Given the description of an element on the screen output the (x, y) to click on. 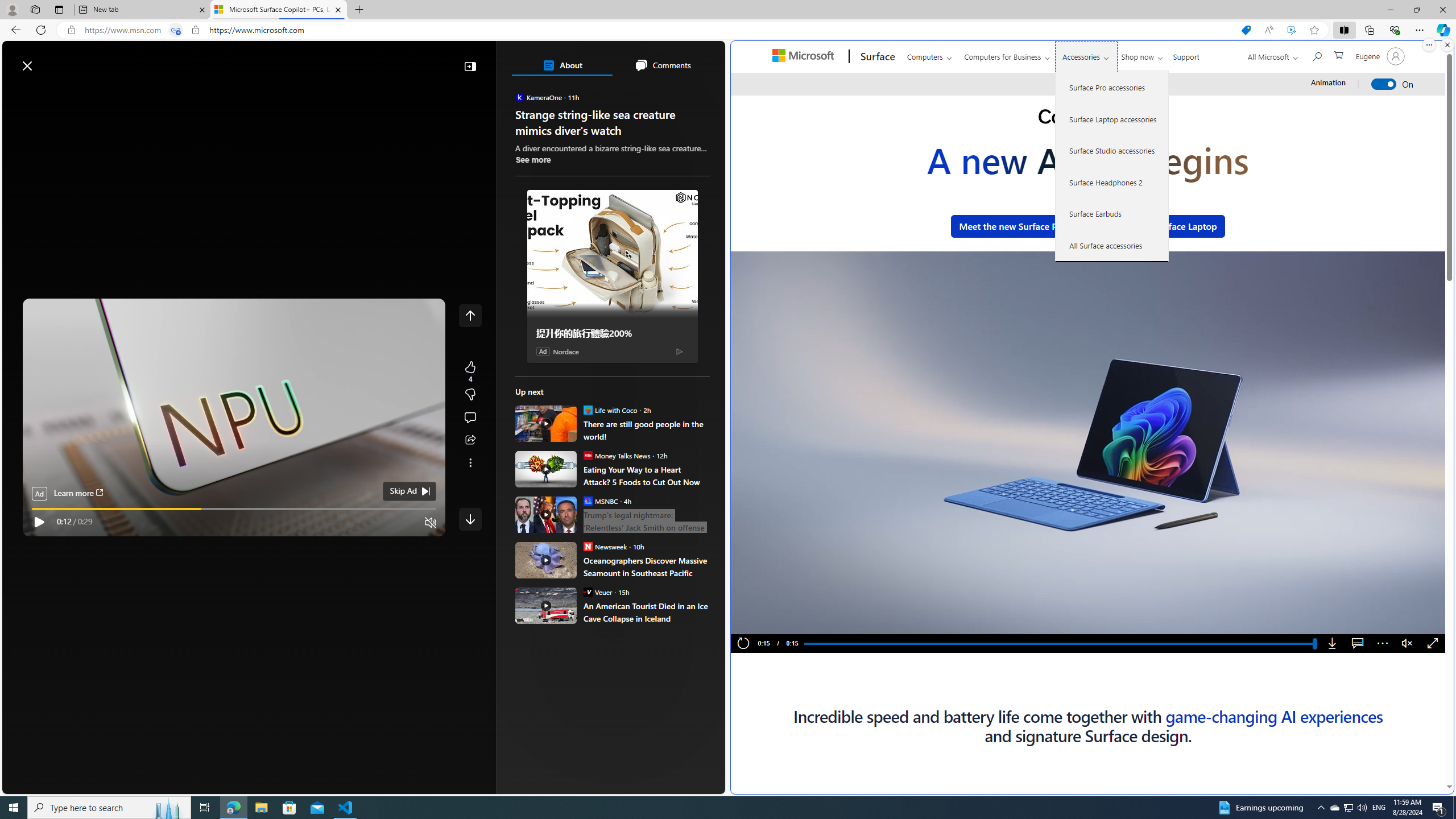
Skip to content (49, 59)
Download (1332, 643)
Watch (141, 92)
Microsoft (804, 56)
Notifications (676, 60)
Web search (161, 60)
Surface Studio accessories (1112, 150)
